Given the description of an element on the screen output the (x, y) to click on. 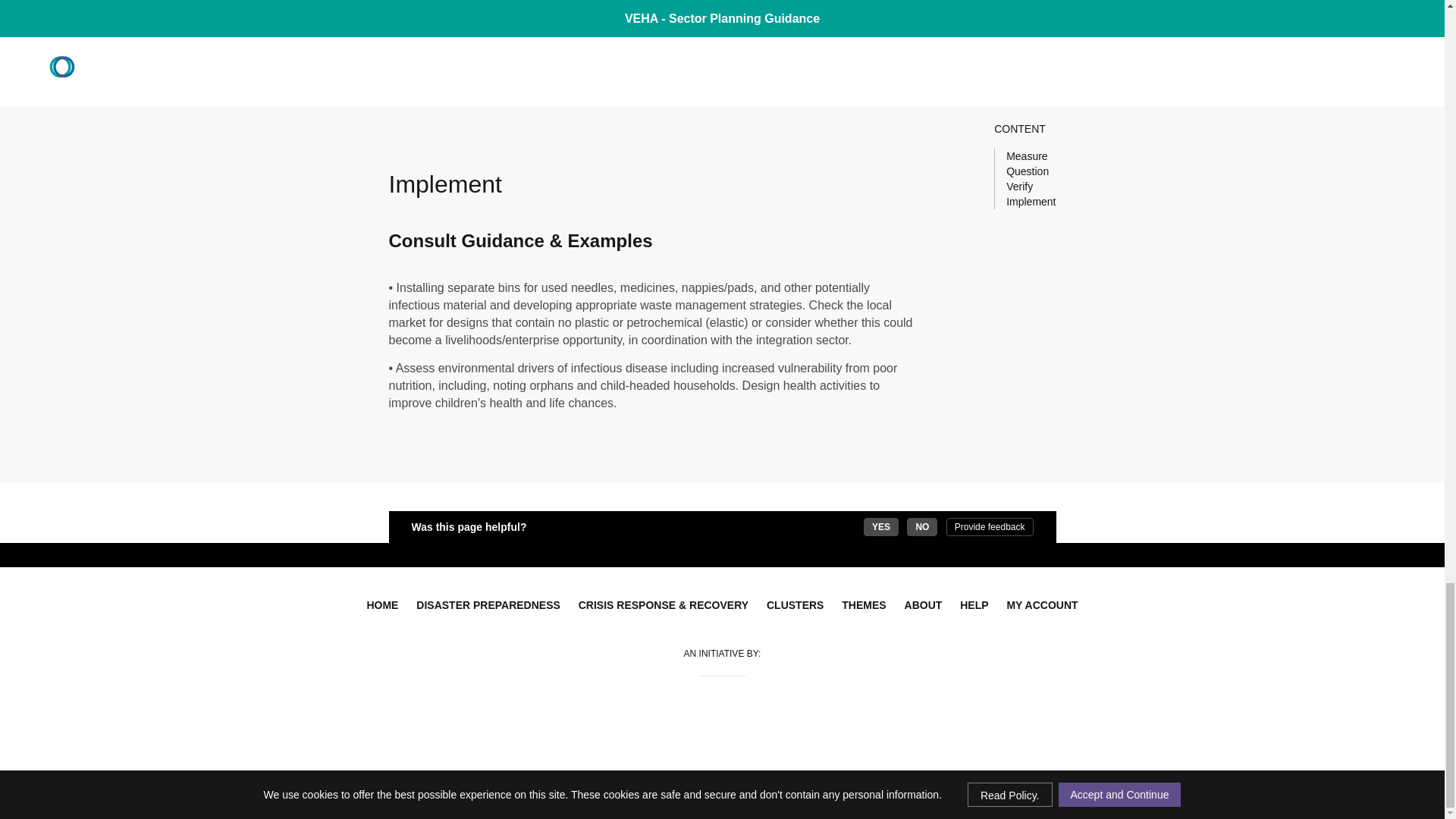
CLUSTERS (794, 604)
NO (922, 526)
ABOUT (923, 604)
DISASTER PREPAREDNESS (488, 604)
HELP (973, 604)
THEMES (863, 604)
HOME (382, 604)
Provide feedback (989, 526)
YES (880, 526)
